Given the description of an element on the screen output the (x, y) to click on. 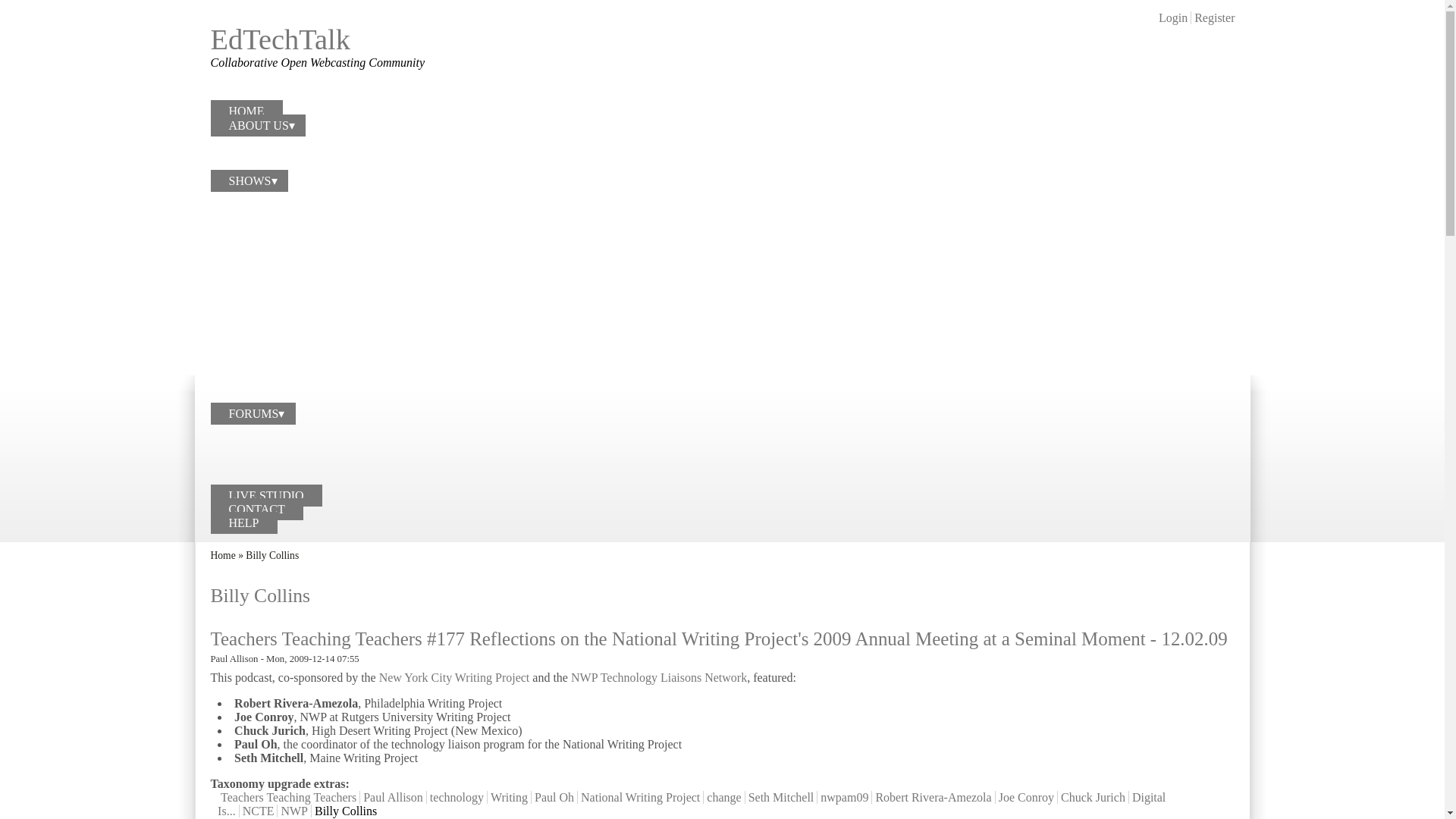
HOME (246, 110)
Home (223, 555)
FORUMS (253, 413)
SHOWS (249, 180)
LIVE STUDIO (266, 495)
CONTACT (256, 508)
ABOUT US (258, 125)
Register (1213, 17)
Skip to search (34, 0)
Home (280, 39)
EdTechTalk (280, 39)
HELP (244, 522)
Advertisement (1059, 47)
Login (1173, 17)
